Given the description of an element on the screen output the (x, y) to click on. 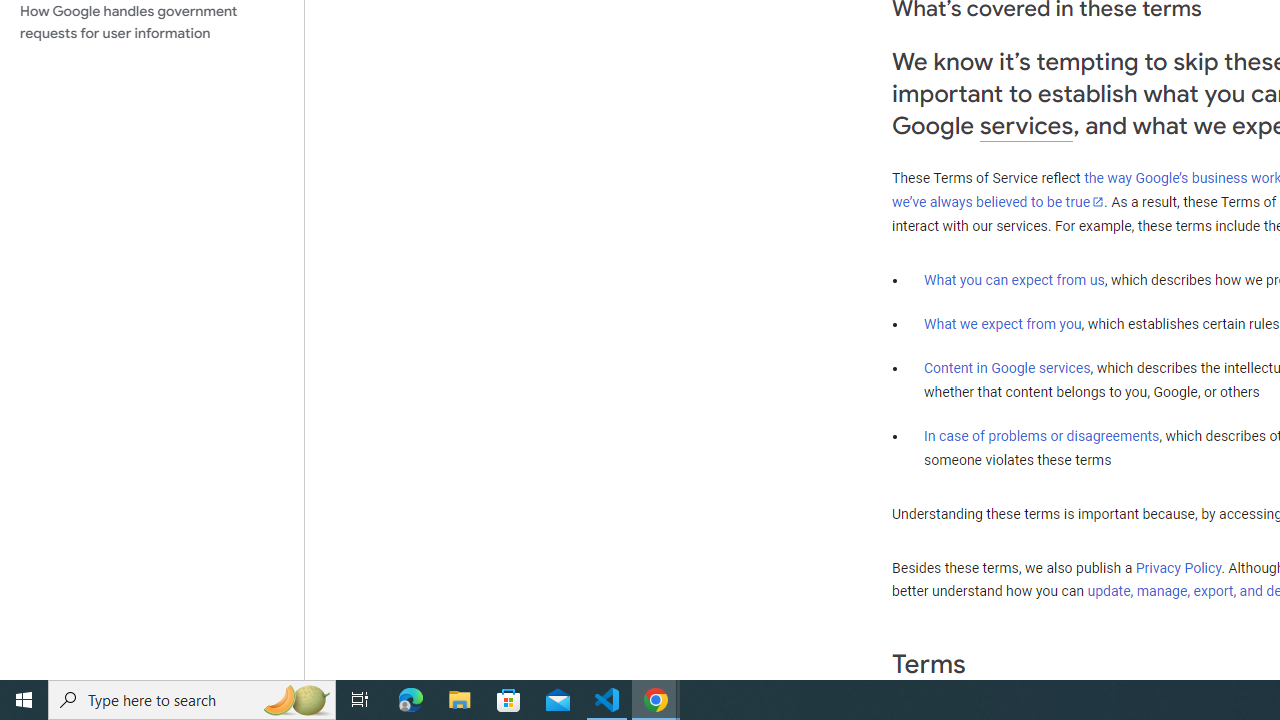
What we expect from you (1002, 323)
What you can expect from us (1014, 279)
Privacy Policy (1178, 567)
In case of problems or disagreements (1041, 435)
Content in Google services (1007, 368)
services (1026, 125)
